Given the description of an element on the screen output the (x, y) to click on. 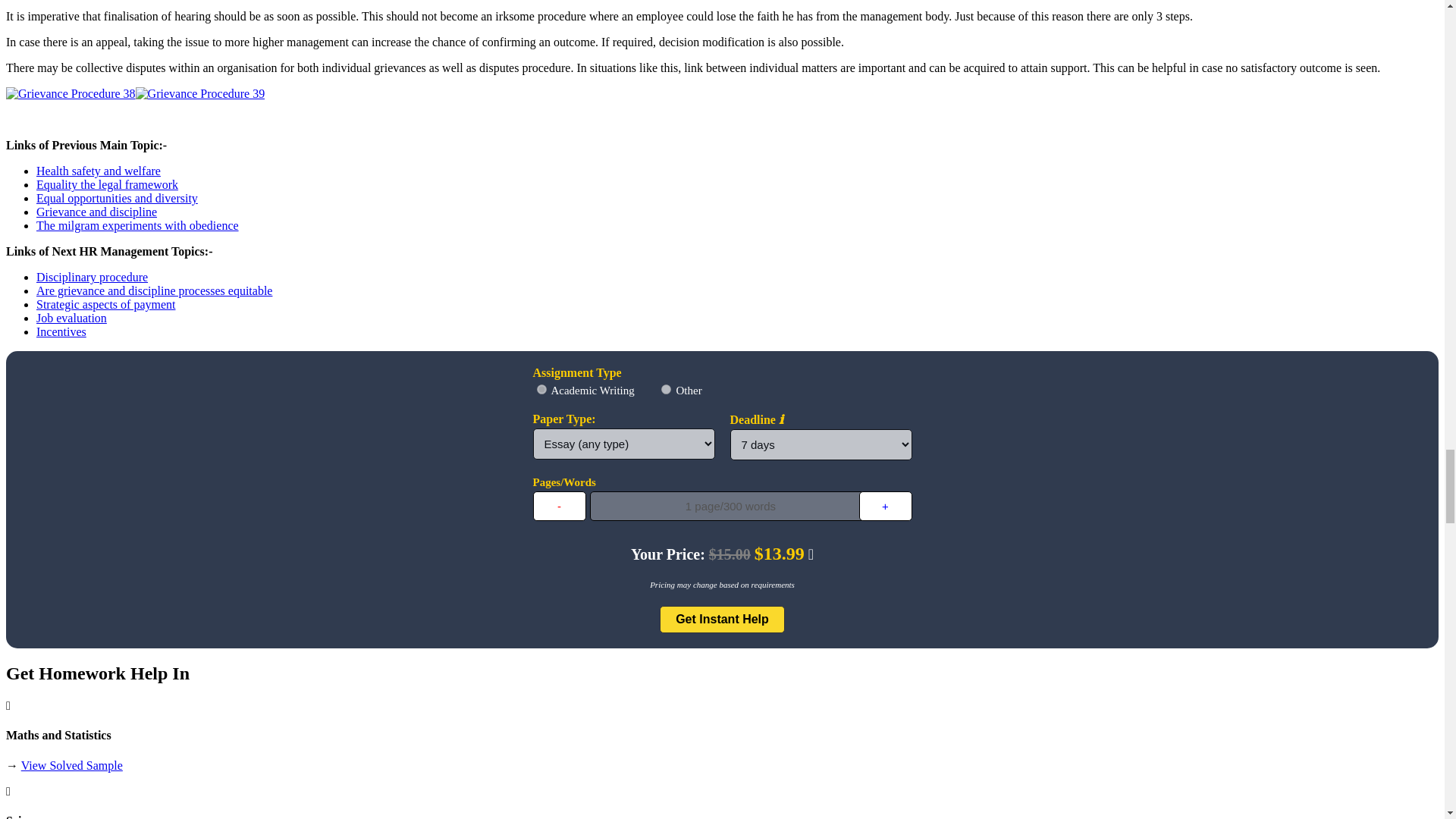
College (666, 388)
Grievance Procedure 2 (70, 93)
High School (542, 388)
